Given the description of an element on the screen output the (x, y) to click on. 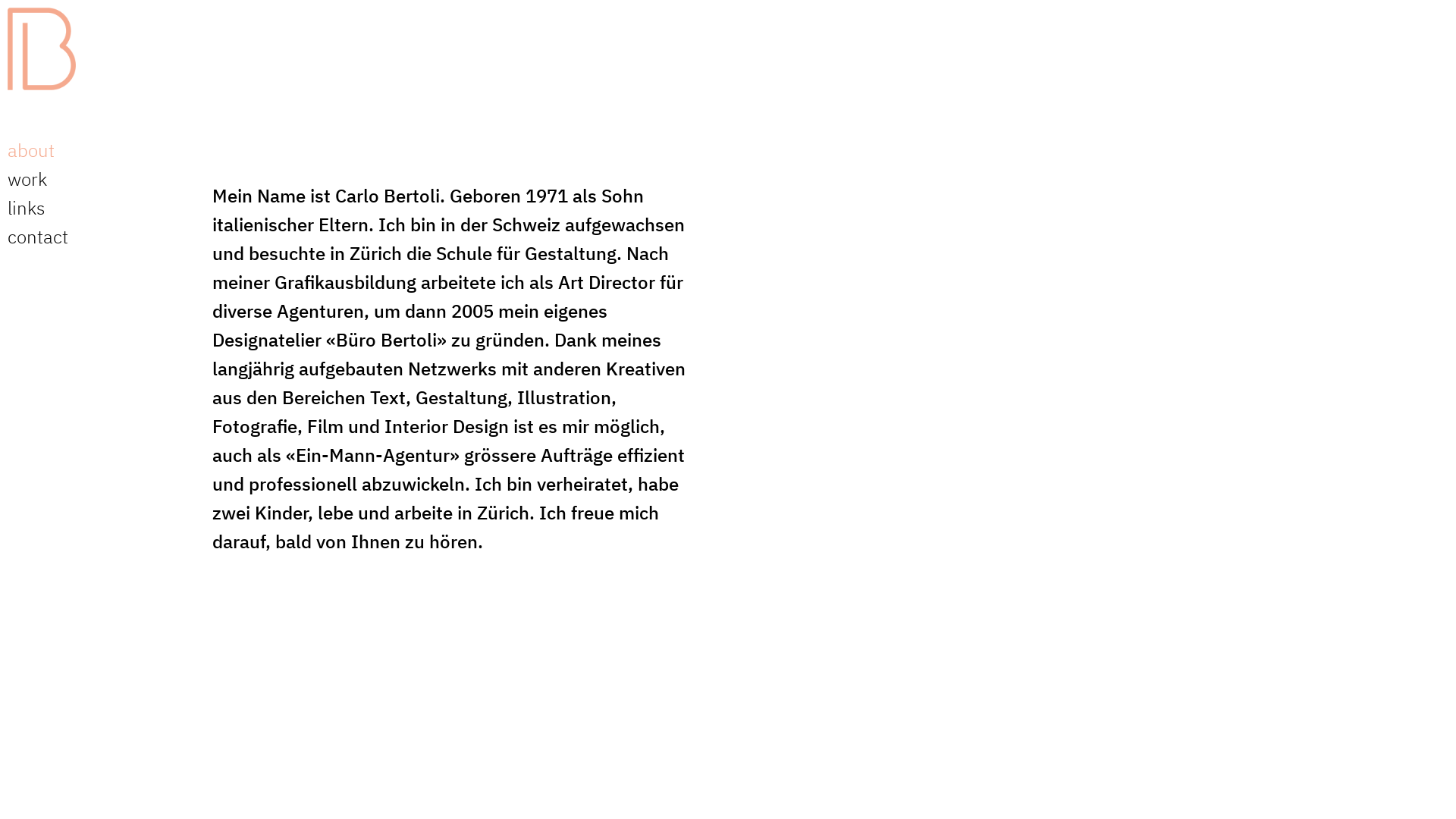
contact Element type: text (94, 236)
about Element type: text (94, 149)
links Element type: text (94, 207)
work Element type: text (94, 178)
